Given the description of an element on the screen output the (x, y) to click on. 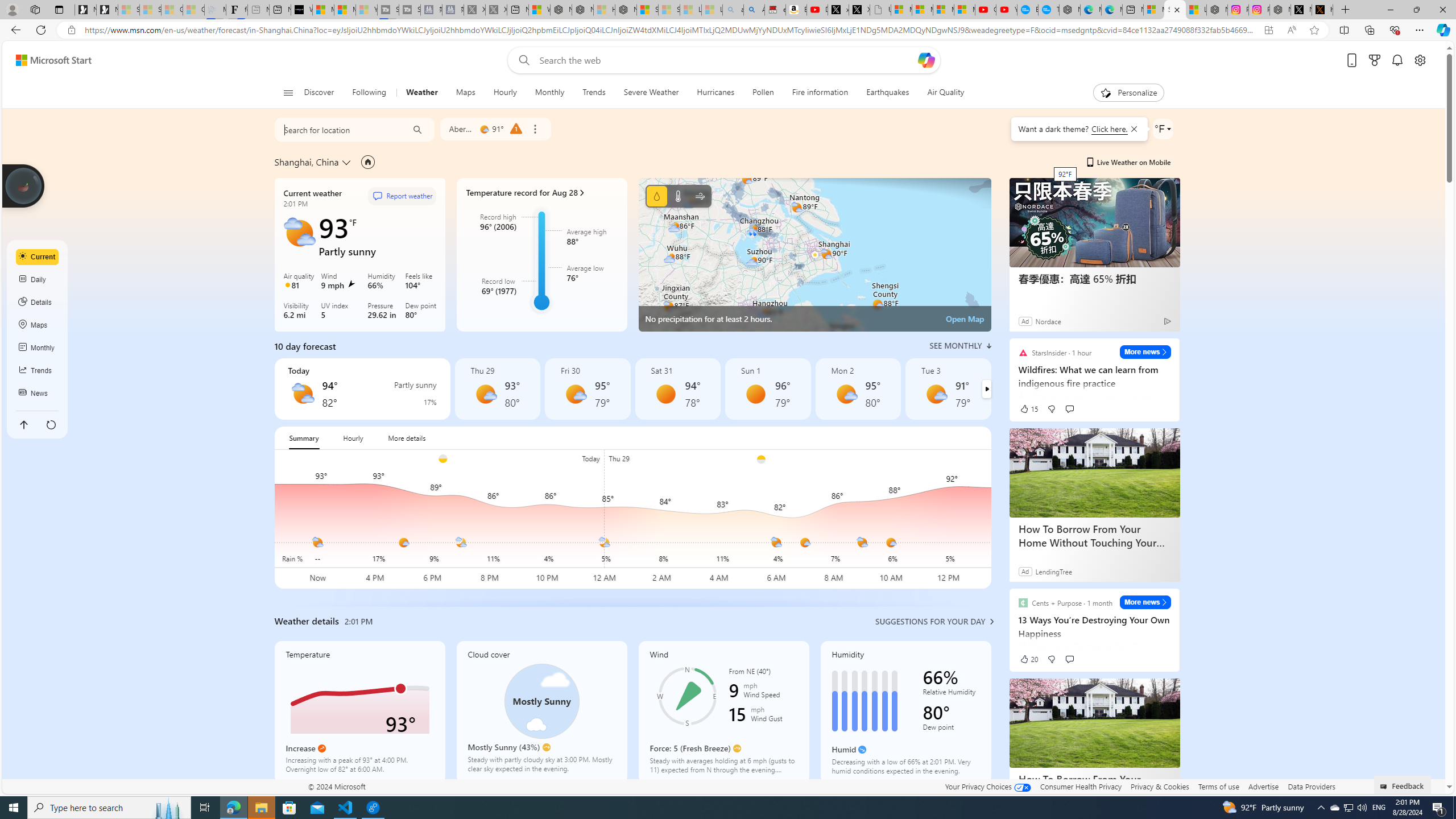
See Monthly (959, 345)
Enter your search term (726, 59)
Untitled (879, 9)
Earthquakes (887, 92)
Precipitation (656, 195)
